Given the description of an element on the screen output the (x, y) to click on. 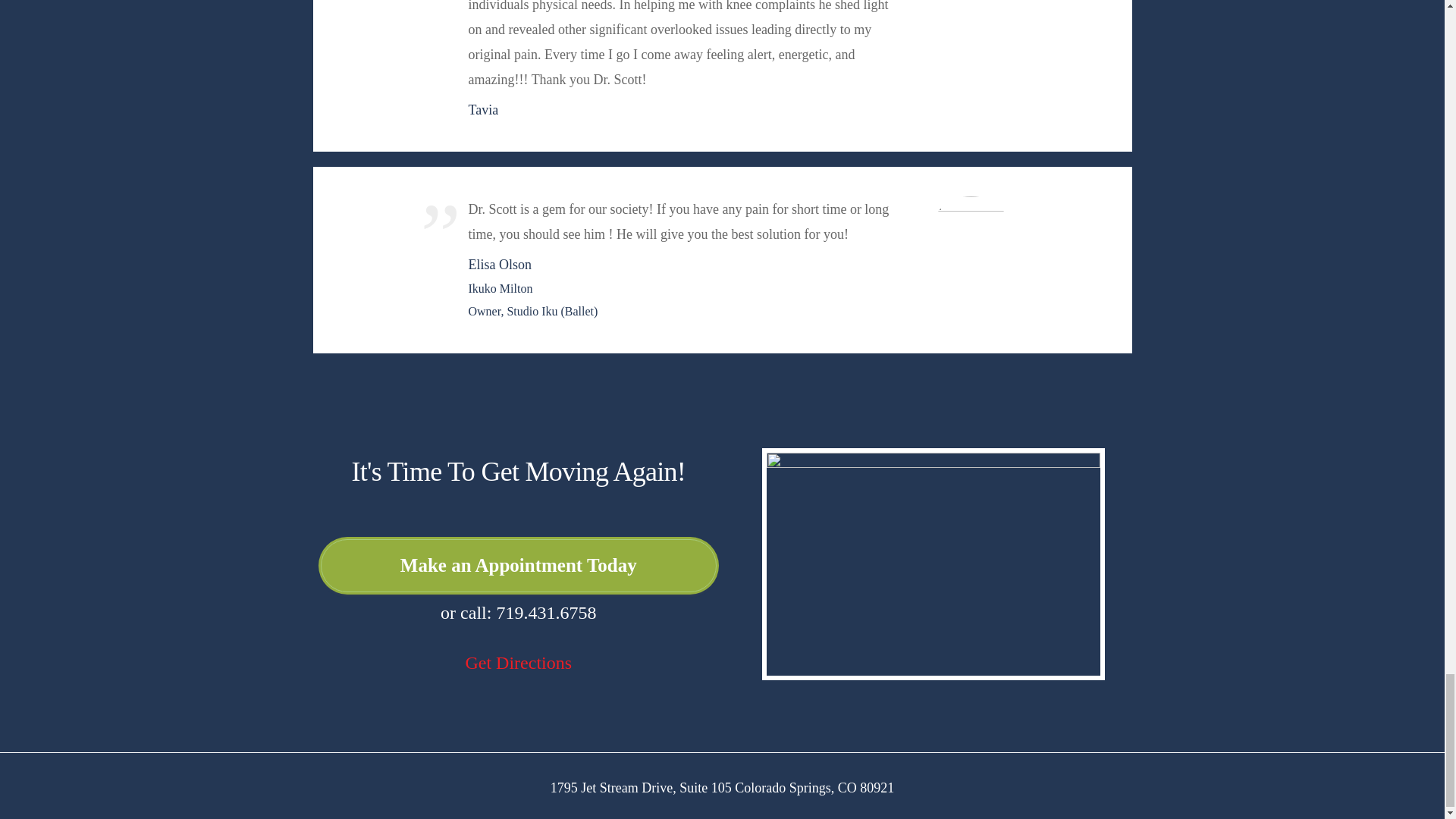
Make an Appointment Today (518, 565)
Get Directions (518, 662)
Make an Appointment Today (518, 565)
719.431.6758 (545, 612)
